Given the description of an element on the screen output the (x, y) to click on. 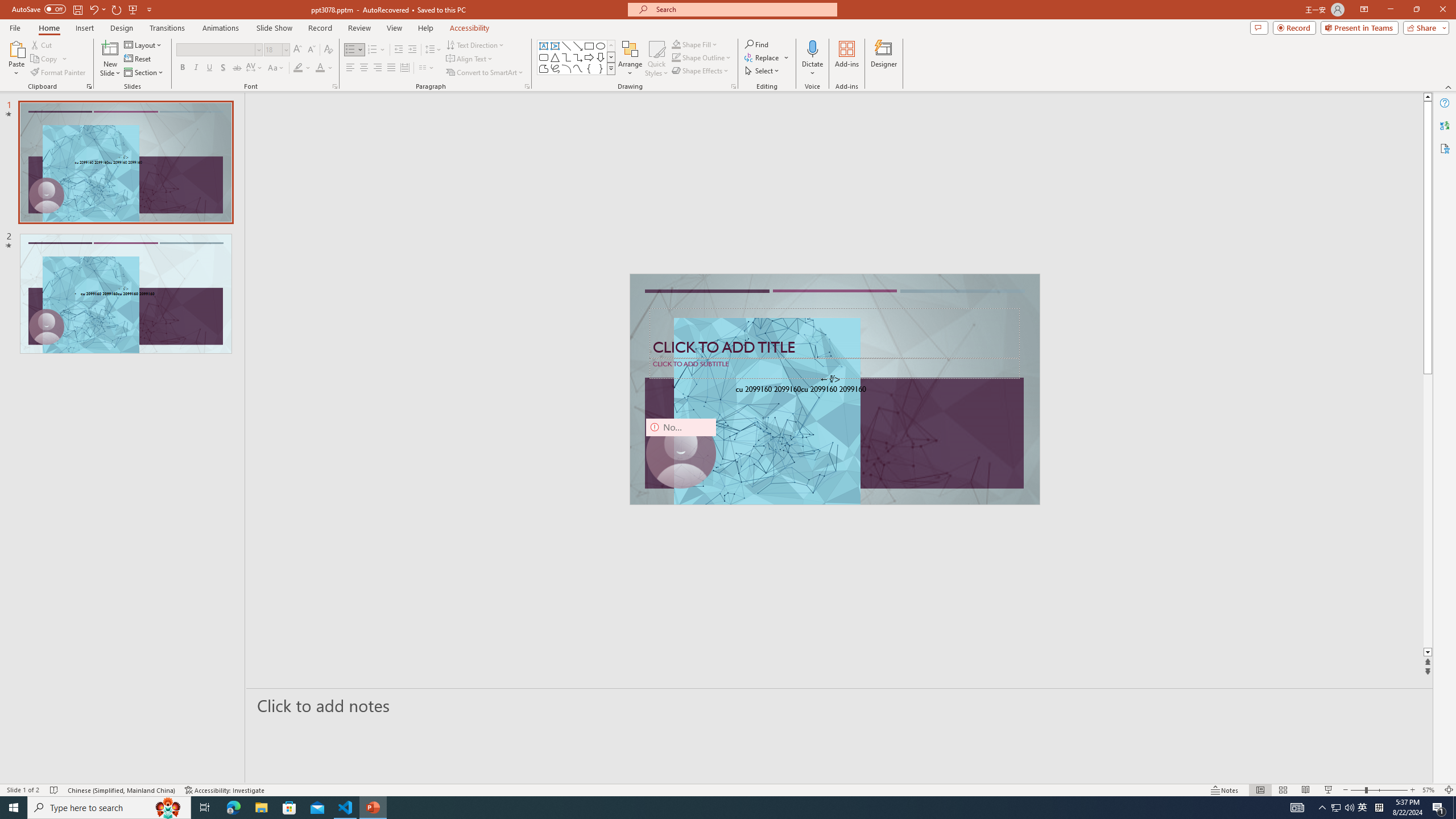
Layout (143, 44)
Paragraph... (526, 85)
Text Highlight Color (302, 67)
Font Size (276, 49)
Align Text (470, 58)
Cut (42, 44)
